Given the description of an element on the screen output the (x, y) to click on. 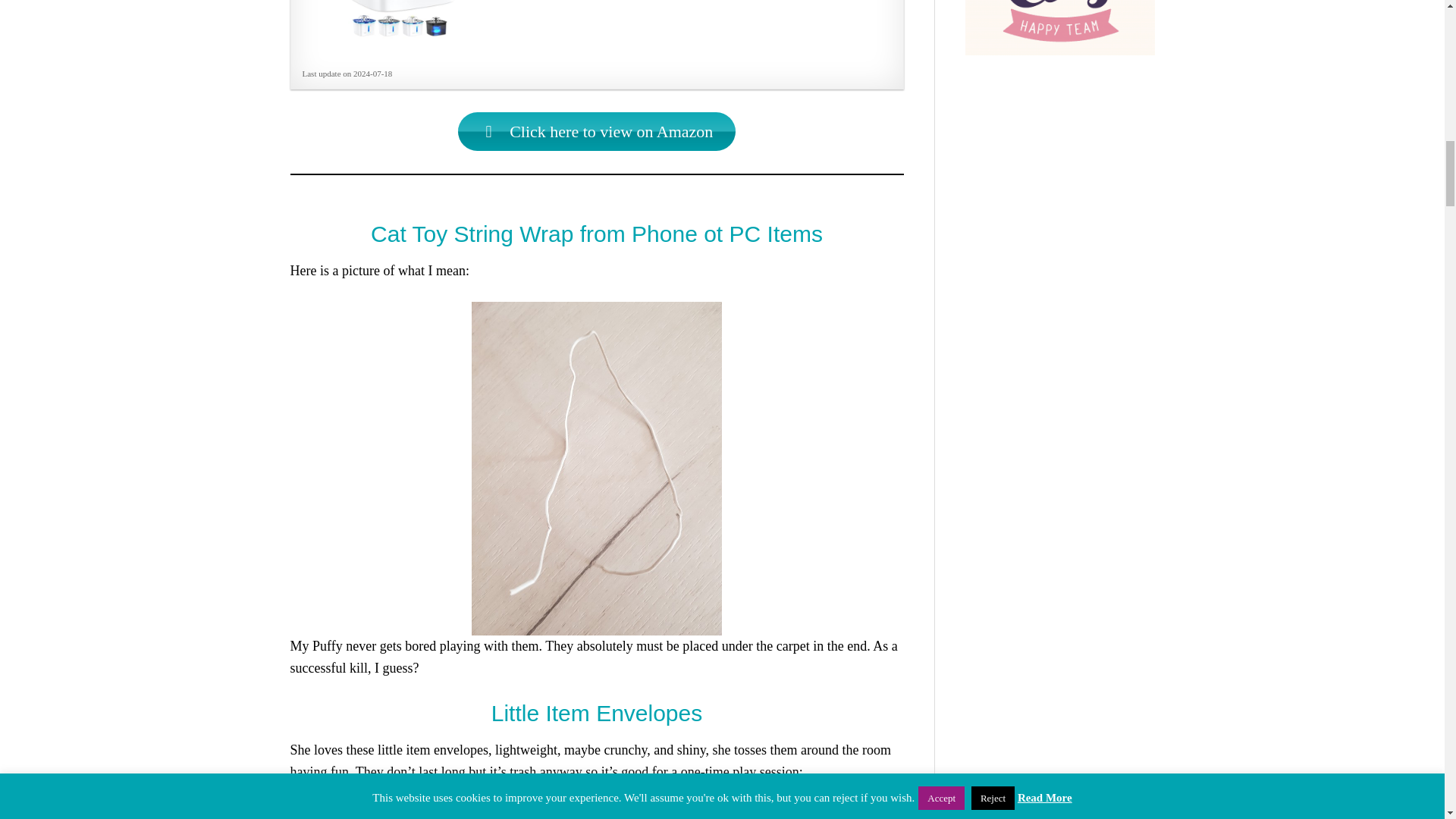
Click here to view on Amazon (597, 131)
